Given the description of an element on the screen output the (x, y) to click on. 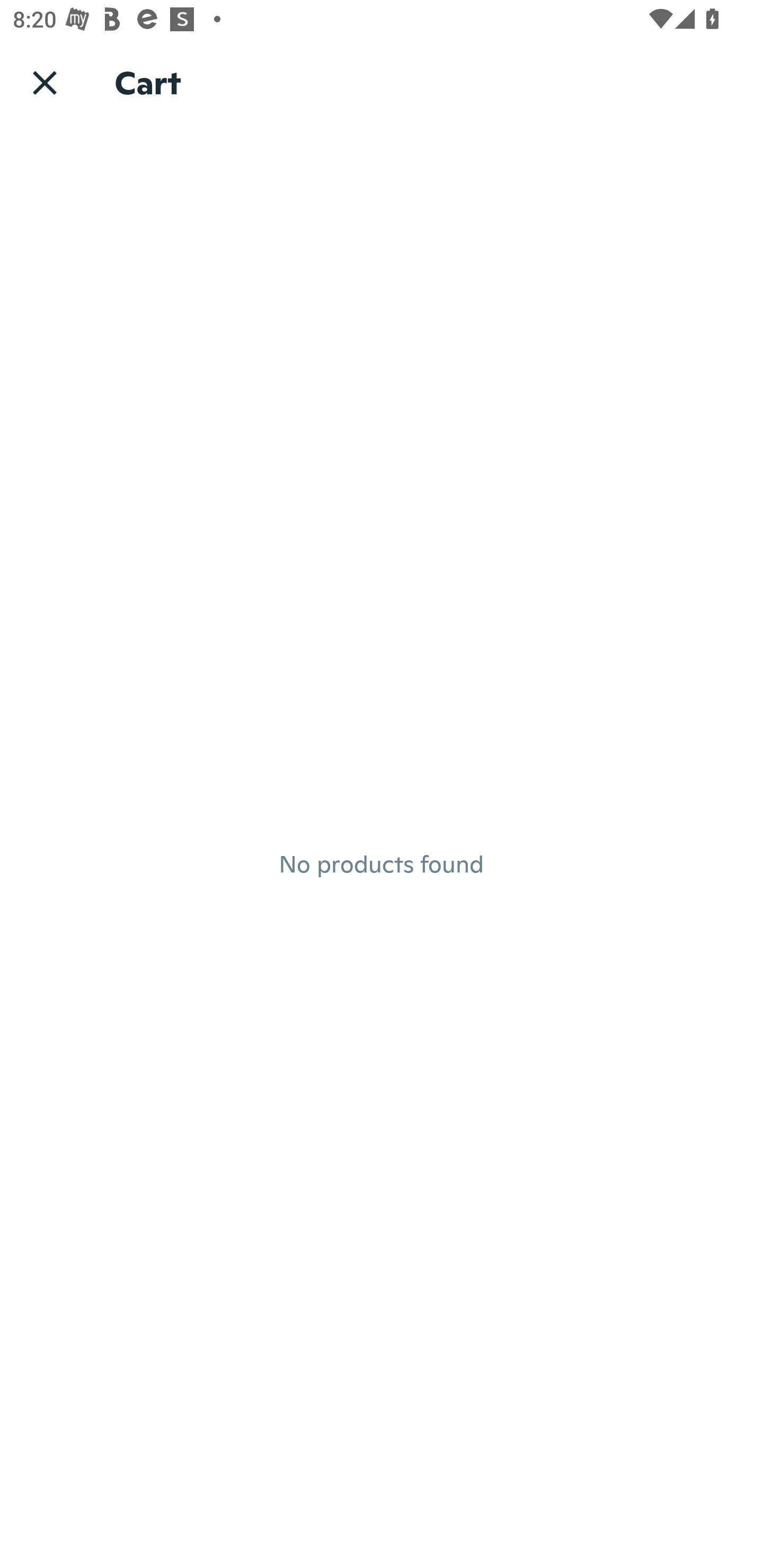
Navigate up (44, 82)
